Given the description of an element on the screen output the (x, y) to click on. 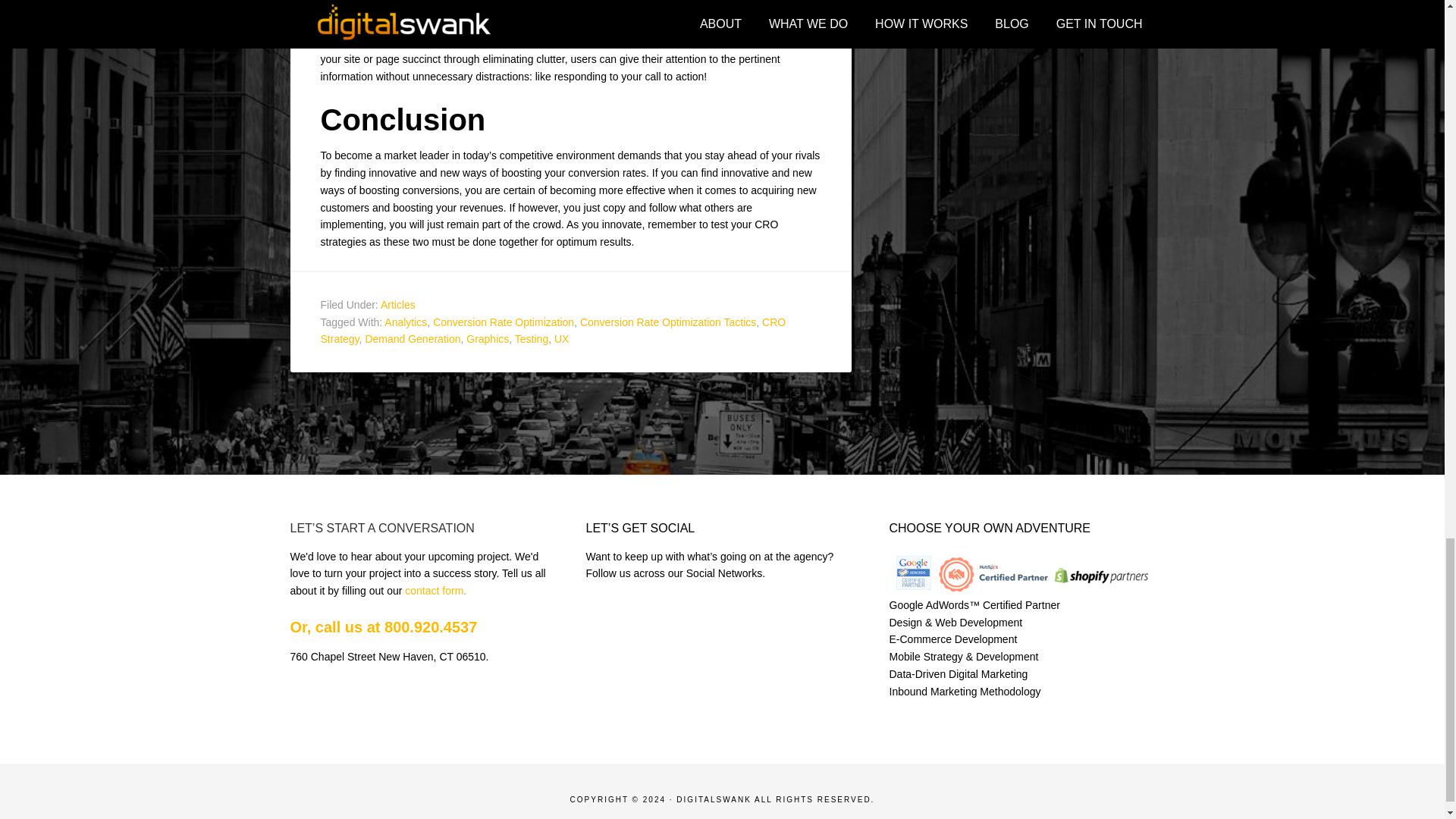
CRO tips (395, 7)
Testing (531, 338)
Graphics (486, 338)
CRO Strategy (553, 330)
UX (561, 338)
Demand Generation (412, 338)
Conversion Rate Optimization (502, 322)
contact form (433, 590)
Conversion Rate Optimization Tactics (667, 322)
Analytics (405, 322)
Articles (397, 304)
